Given the description of an element on the screen output the (x, y) to click on. 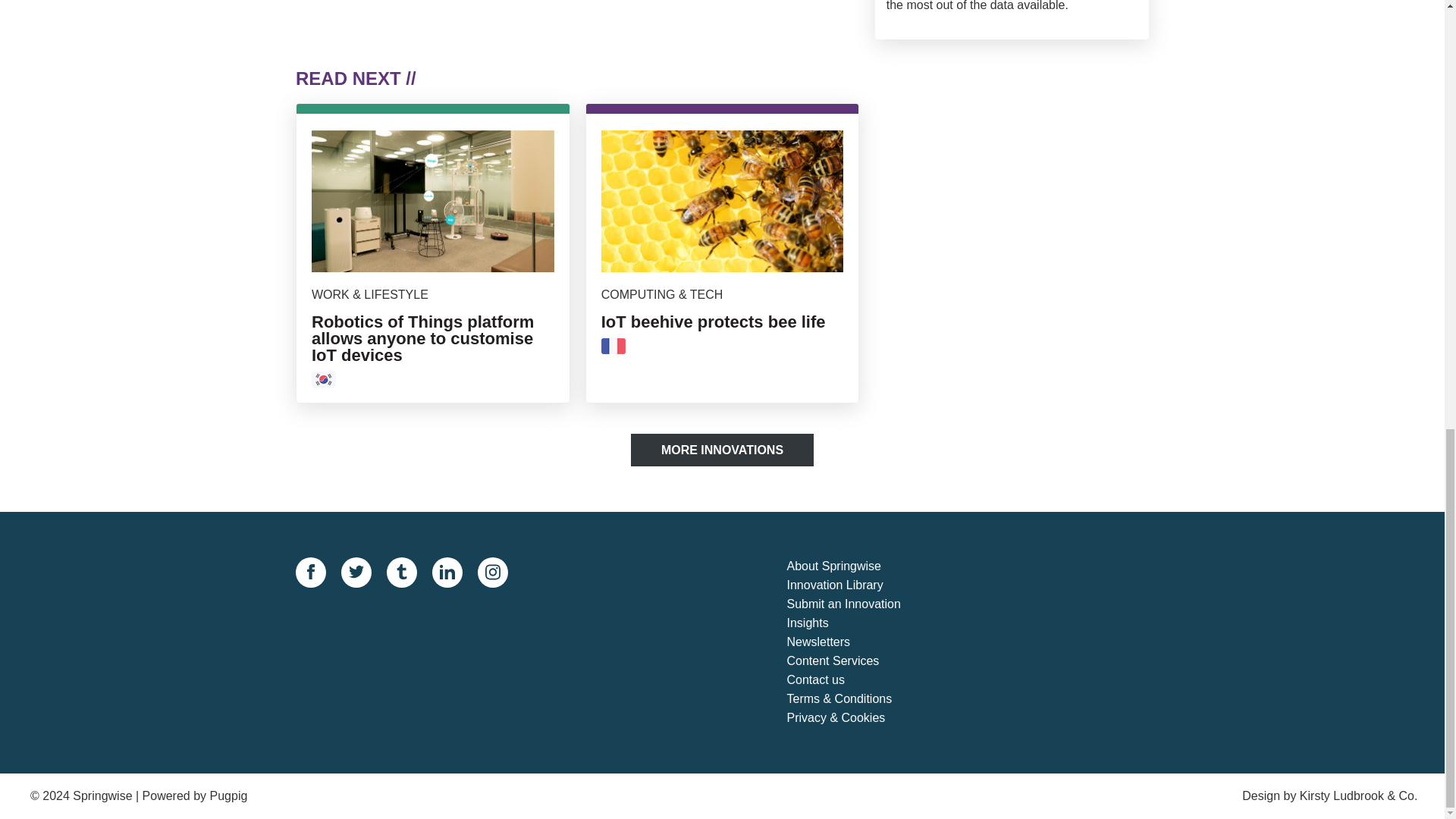
Insights (856, 623)
Newsletters (856, 642)
Content Services (856, 660)
Submit an Innovation (856, 604)
Innovation Library (856, 585)
About Springwise (856, 566)
Contact us (856, 680)
MORE INNOVATIONS (721, 450)
